Given the description of an element on the screen output the (x, y) to click on. 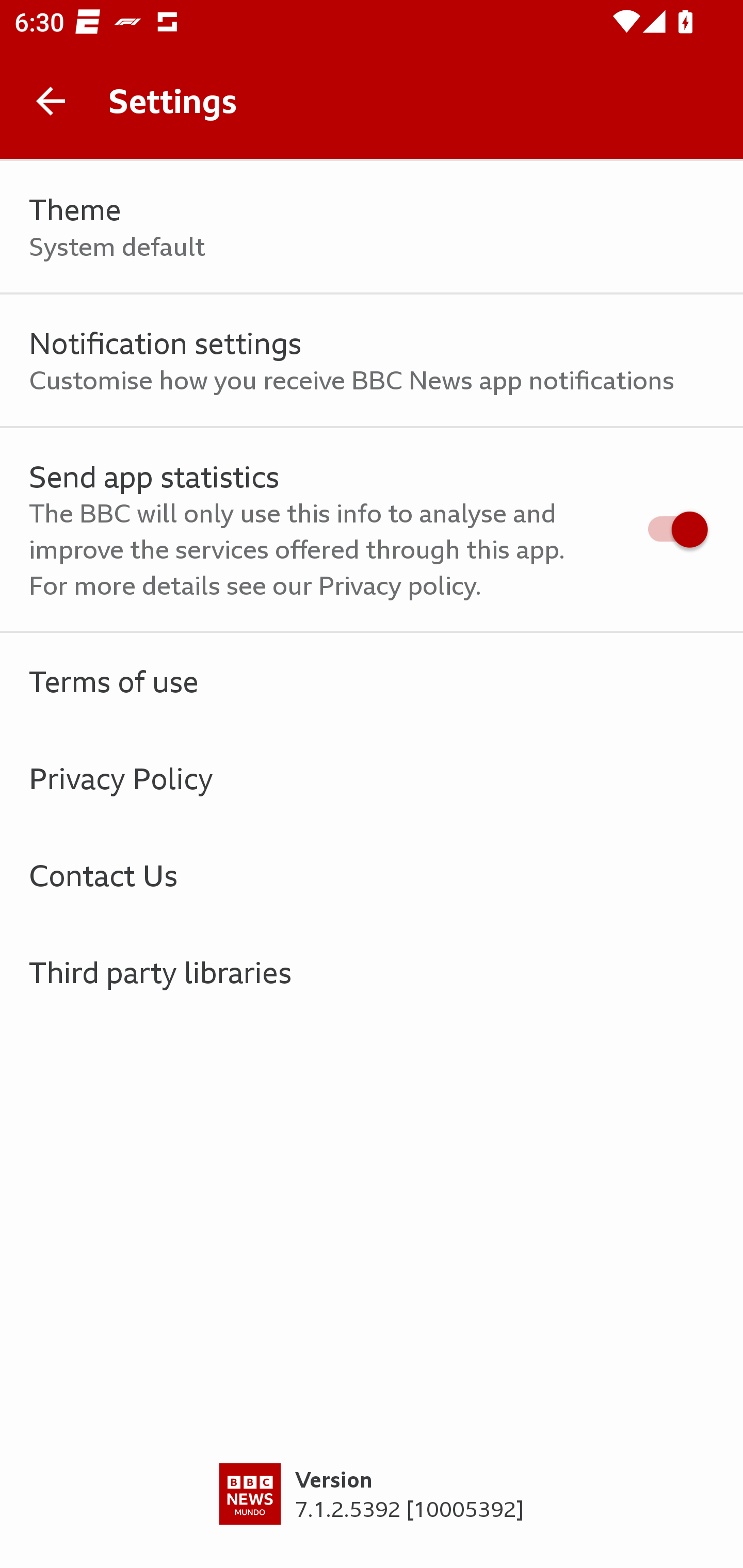
Back (50, 101)
Theme System default (371, 227)
Terms of use (371, 681)
Privacy Policy (371, 777)
Contact Us (371, 874)
Third party libraries (371, 971)
Version 7.1.2.5392 [10005392] (371, 1515)
